Given the description of an element on the screen output the (x, y) to click on. 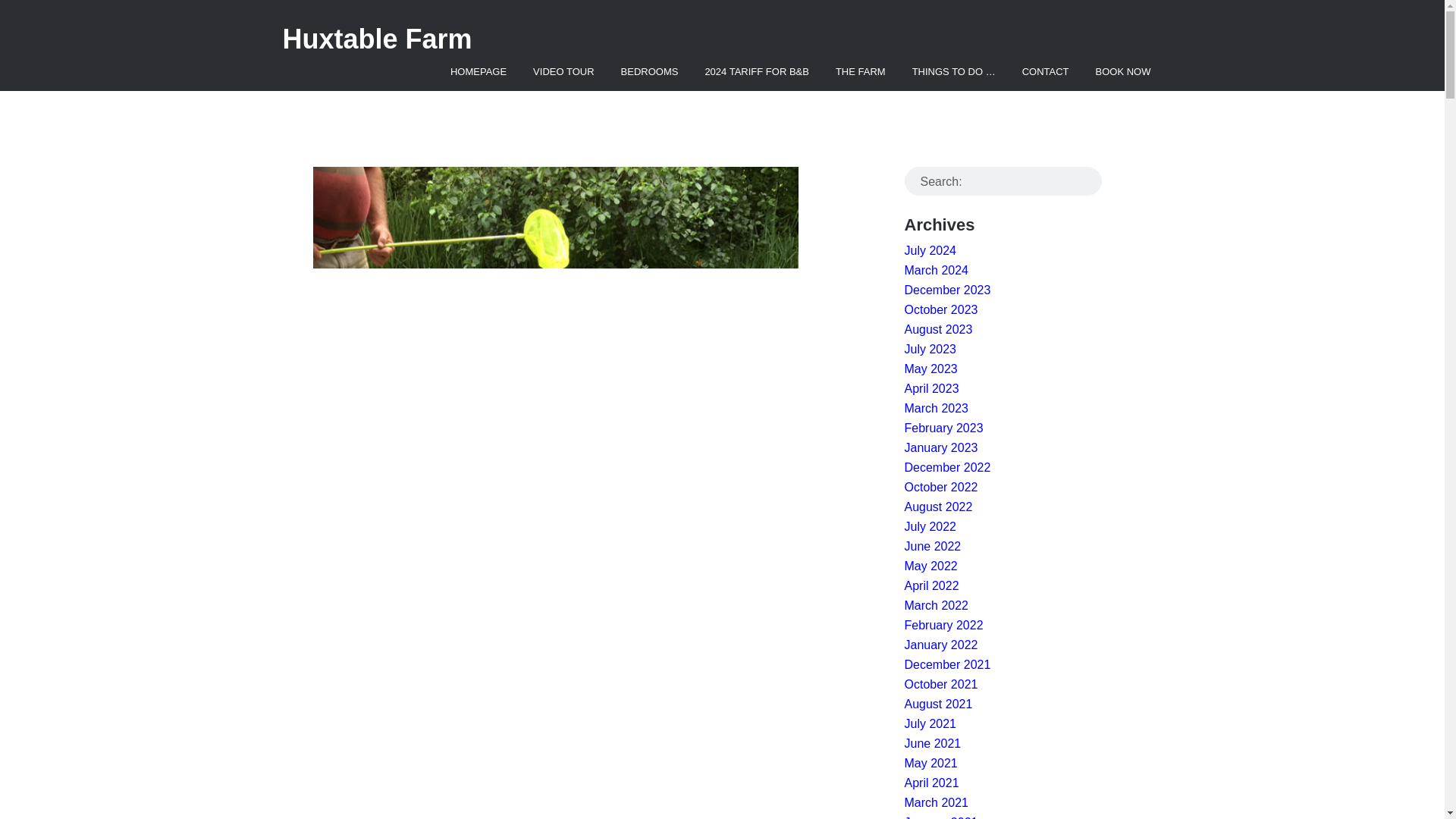
Search: (1002, 181)
VIDEO TOUR (563, 70)
BEDROOMS (650, 70)
THE FARM (860, 70)
Huxtable Farm (376, 38)
HOMEPAGE (478, 70)
